Given the description of an element on the screen output the (x, y) to click on. 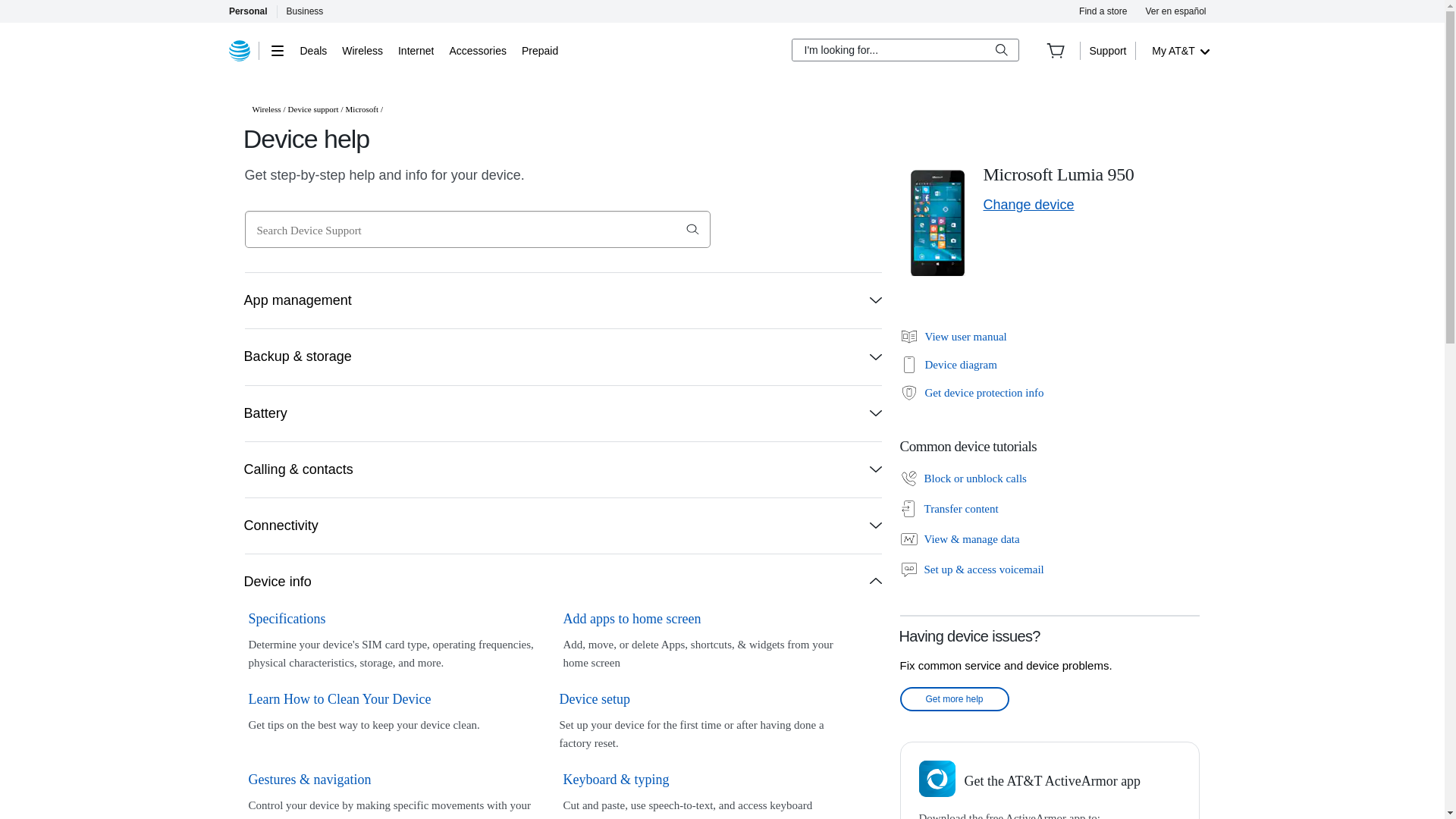
Search (692, 228)
Prepaid (539, 50)
Deals (313, 50)
Microsoft (362, 108)
Wireless (362, 50)
Microsoft Lumia 950 (937, 222)
Personal (247, 10)
User Manual link (952, 336)
Support (1107, 50)
Wireless (266, 108)
Cart (1055, 50)
Find a store (1102, 10)
Device diagram (947, 364)
Device support (313, 108)
